Given the description of an element on the screen output the (x, y) to click on. 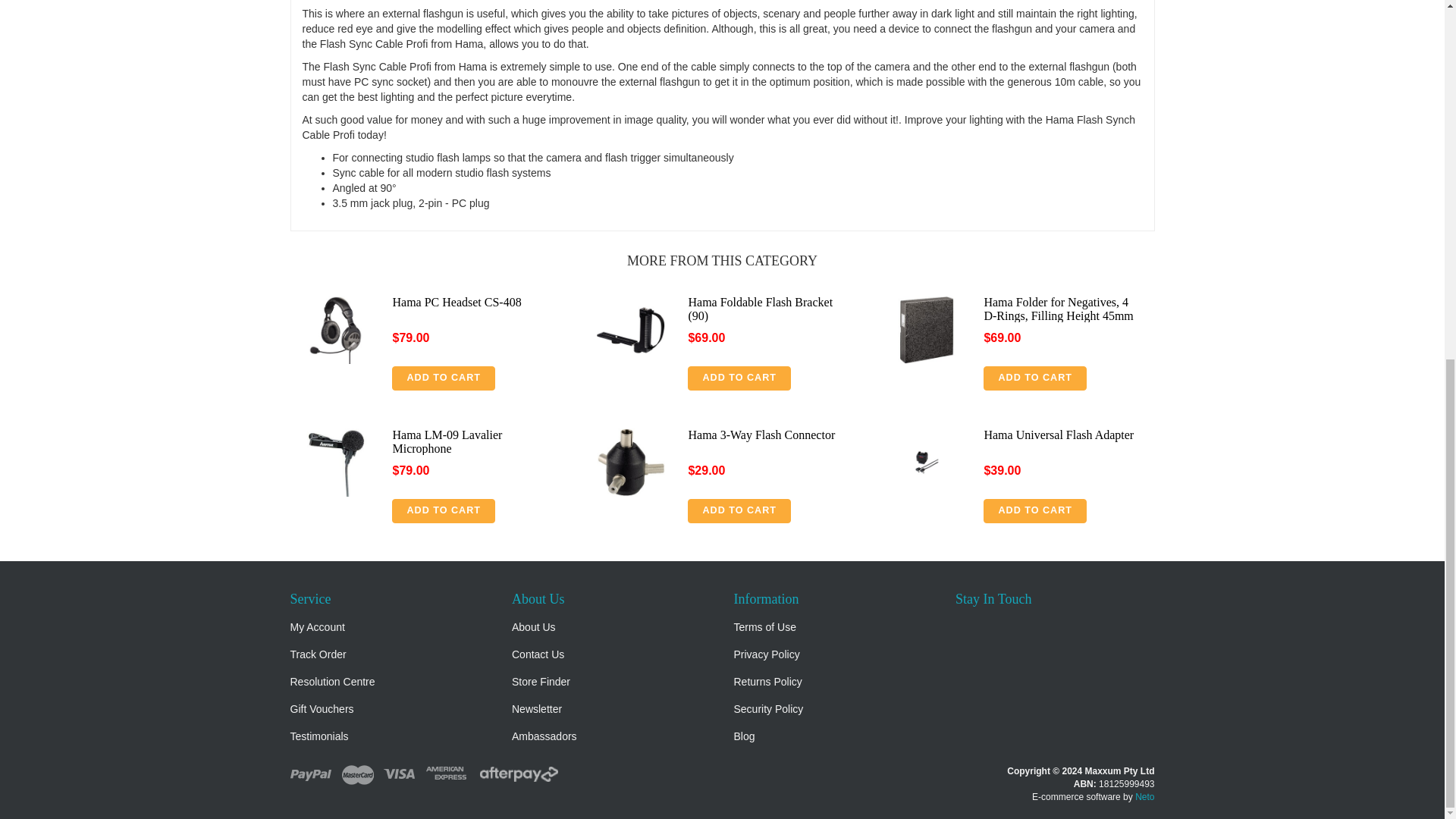
Hama 3-Way Flash Connector (760, 434)
Maxxum Pty Ltd on Facebook (966, 628)
Add to Cart (443, 510)
Add to Cart (1035, 378)
Add to Cart (738, 510)
Maxxum Pty Ltd on Youtube (1001, 628)
Add to Cart (443, 378)
Add to Cart (1035, 510)
Hama Universal Flash Adapter (1059, 434)
Add to Cart (738, 378)
Hama LM-09 Lavalier Microphone (446, 441)
Hama PC Headset CS-408 (456, 301)
